Given the description of an element on the screen output the (x, y) to click on. 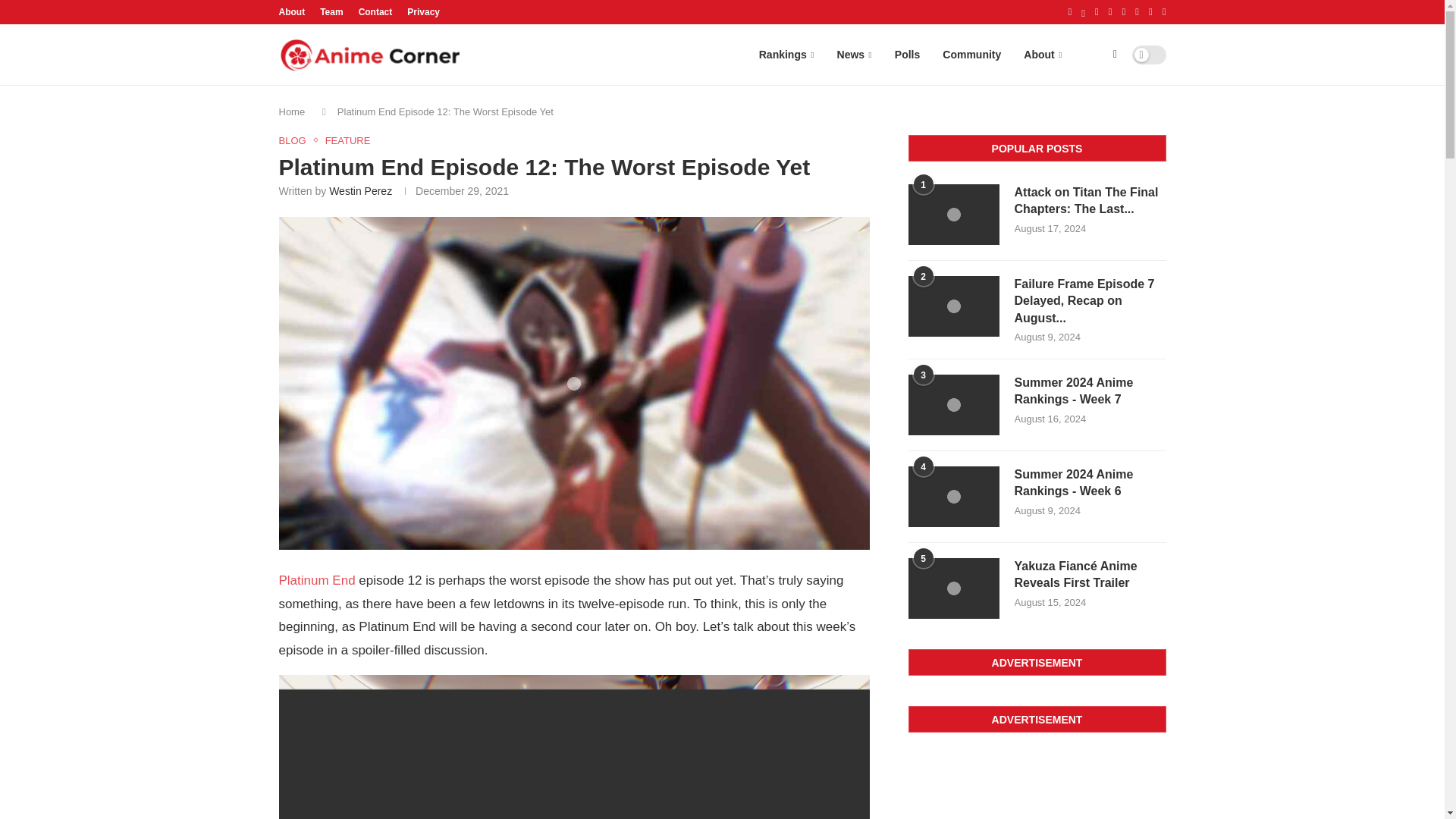
About (1042, 54)
Summer 2024 Anime Rankings - Week 7 (953, 404)
Community (971, 54)
Summer 2024 Anime Rankings - Week 6 (1090, 483)
Home (292, 111)
Summer 2024 Anime Rankings - Week 6 (953, 496)
About (292, 12)
Summer 2024 Anime Rankings - Week 7 (1090, 391)
Team (331, 12)
